Given the description of an element on the screen output the (x, y) to click on. 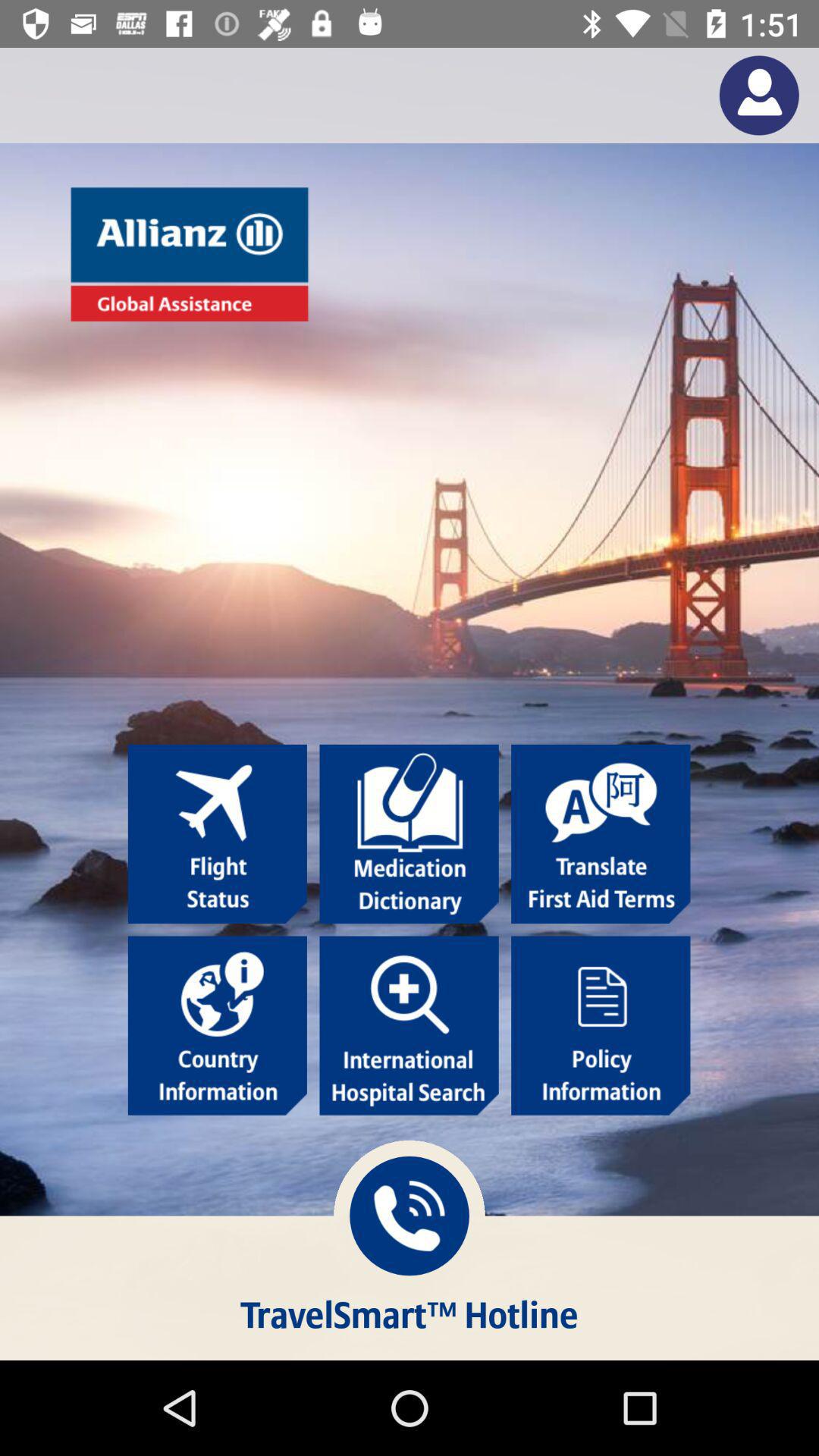
go to medication dictionary (408, 833)
